Given the description of an element on the screen output the (x, y) to click on. 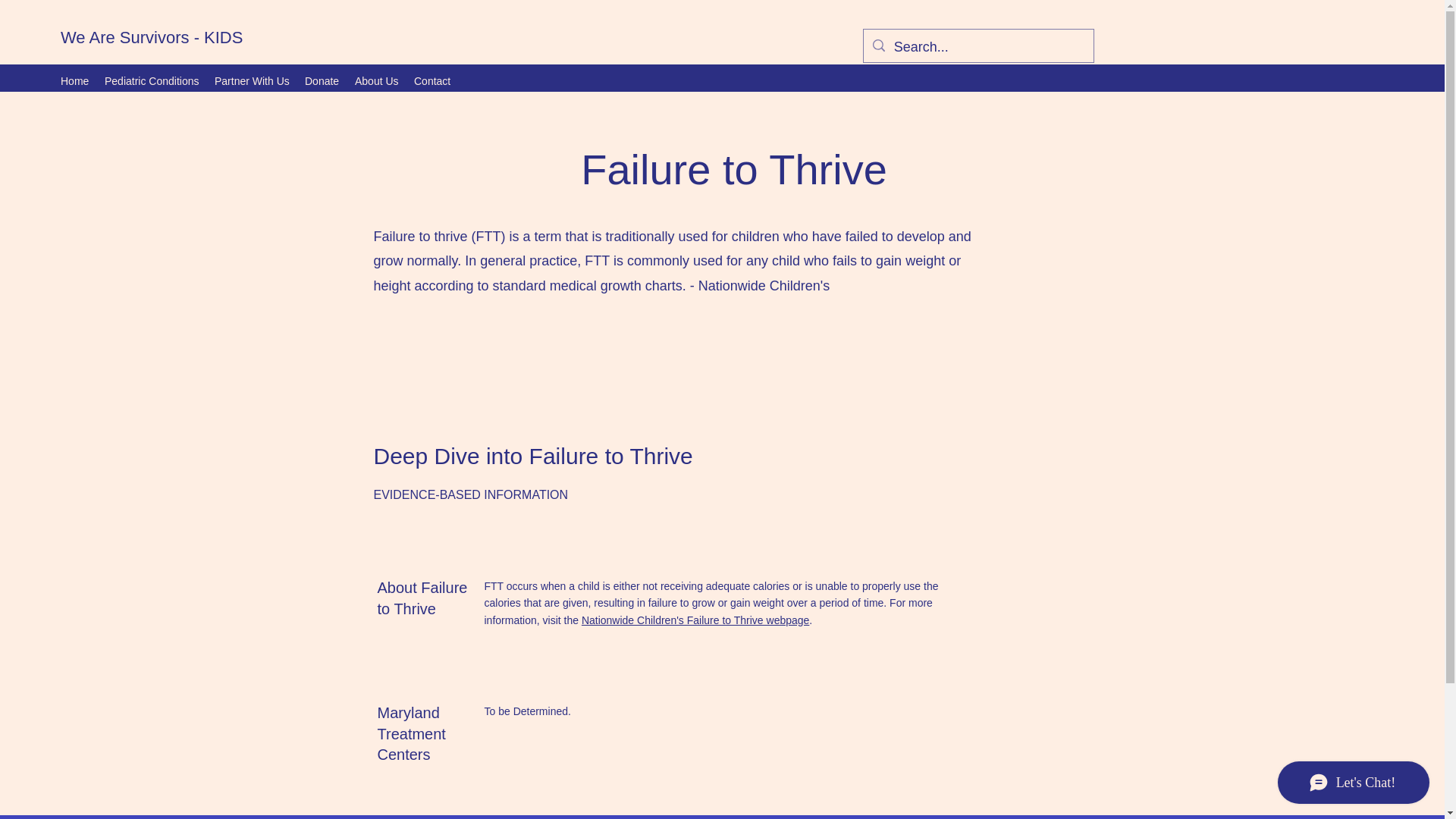
Partner With Us (251, 80)
Donate (322, 80)
Home (74, 80)
Pediatric Conditions (151, 80)
Nationwide Children's Failure to Thrive webpage (694, 620)
About Us (376, 80)
Contact (432, 80)
